Given the description of an element on the screen output the (x, y) to click on. 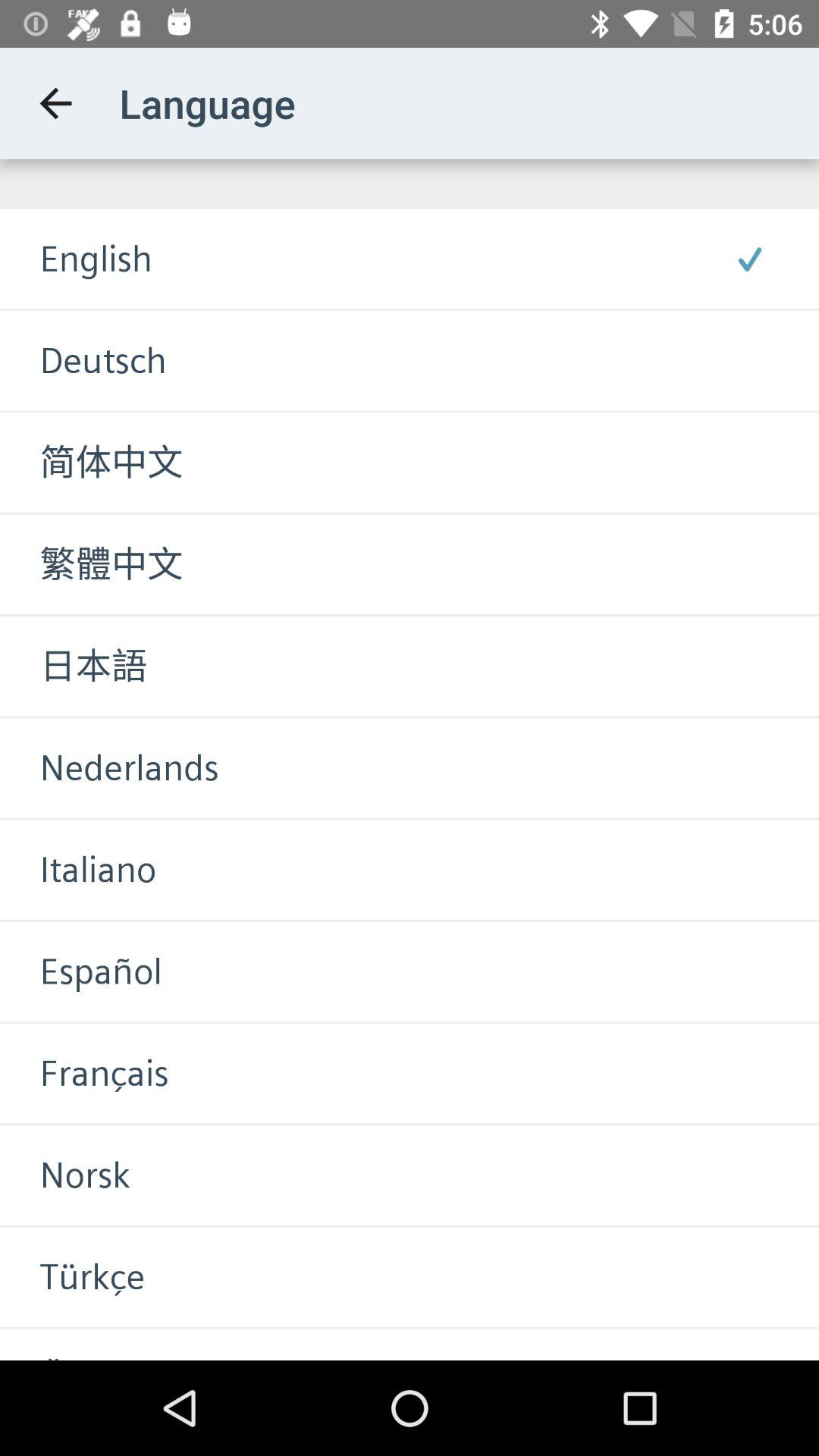
select item next to language icon (55, 103)
